Given the description of an element on the screen output the (x, y) to click on. 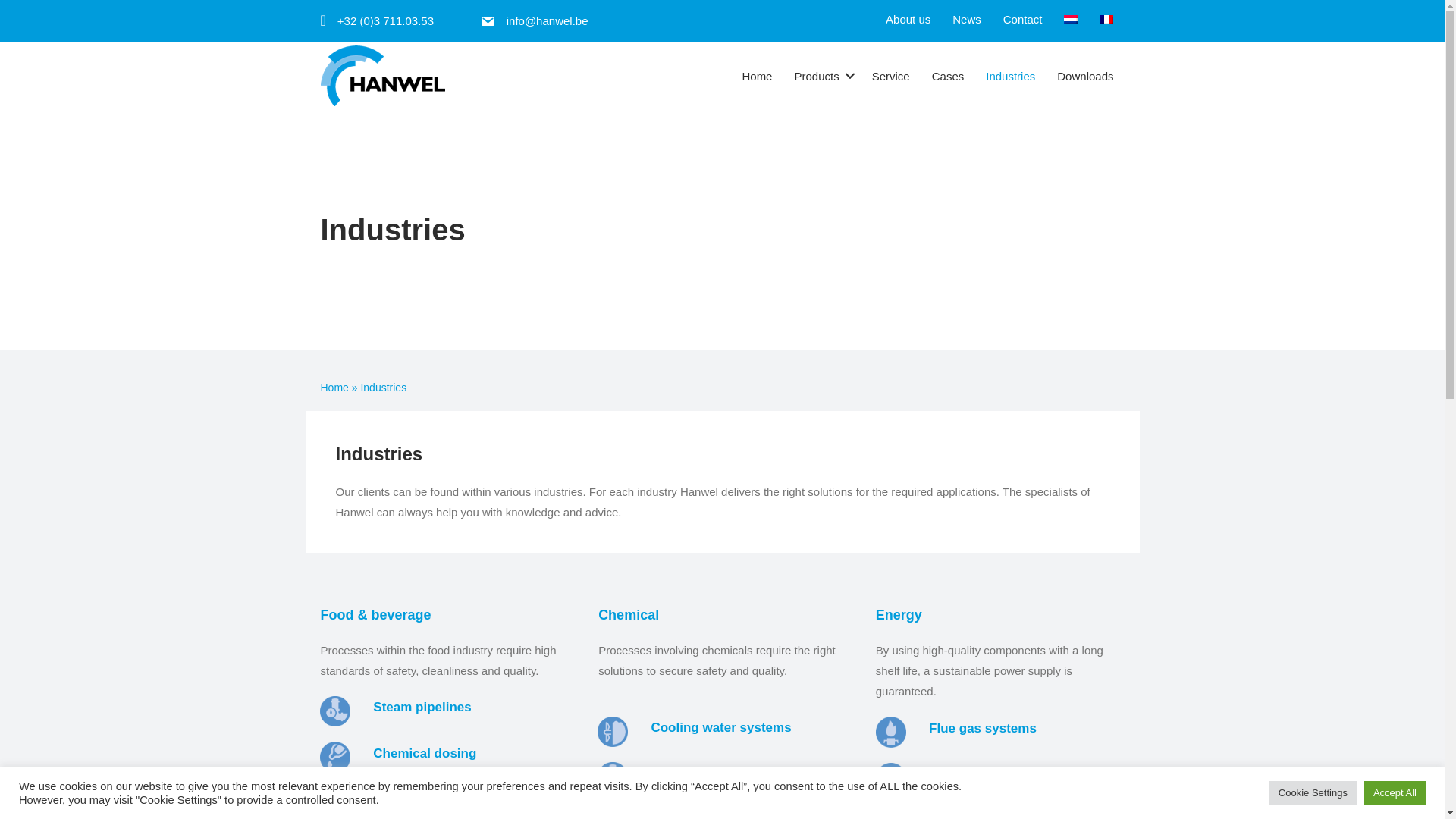
Products (821, 75)
Home (756, 75)
Logo (382, 75)
Contact (1022, 19)
About us (907, 19)
News (966, 19)
